Given the description of an element on the screen output the (x, y) to click on. 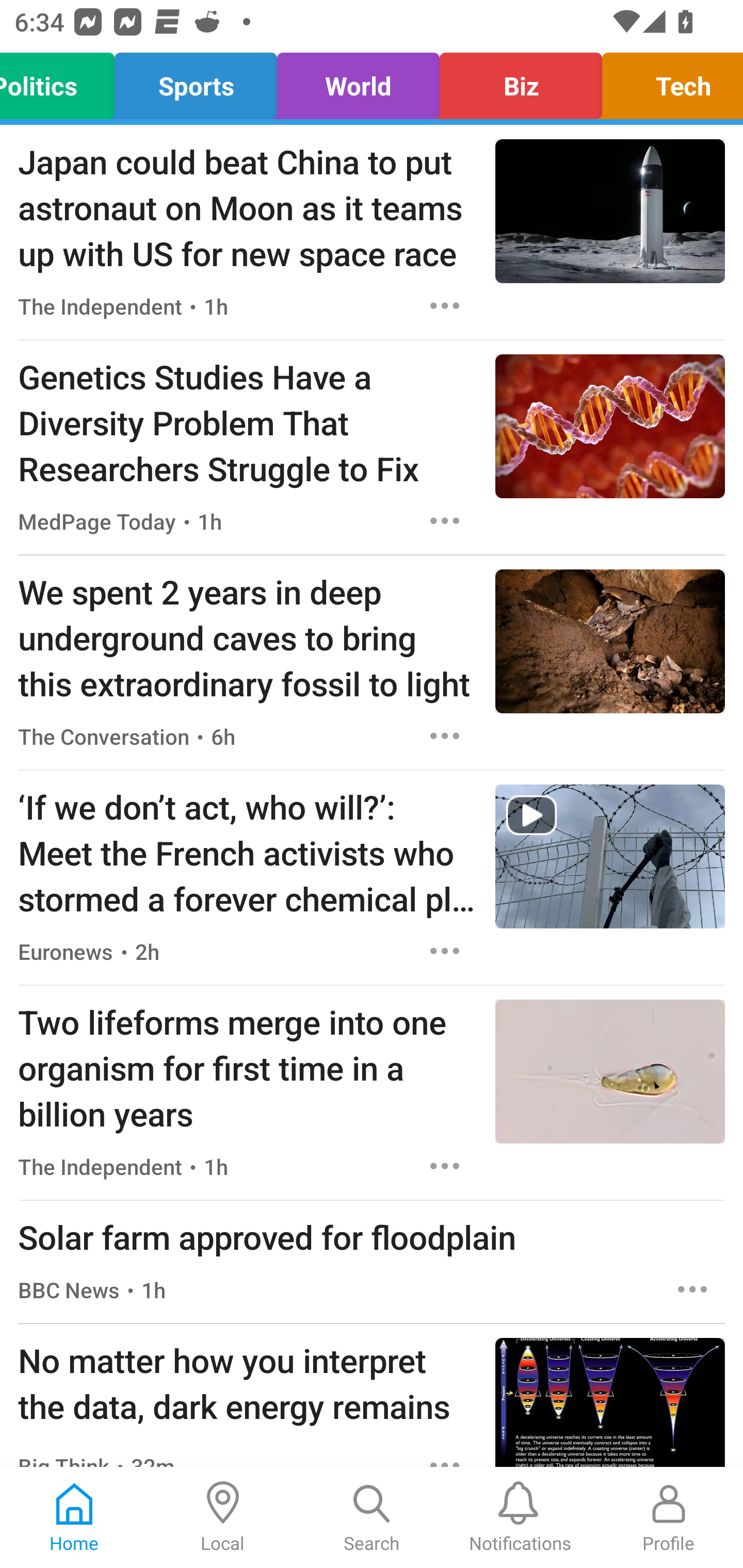
Politics (62, 81)
Sports (196, 81)
World (357, 81)
Biz (520, 81)
Tech (667, 81)
Options (444, 305)
Options (444, 520)
Options (444, 736)
Options (444, 950)
Options (444, 1166)
Options (692, 1289)
Local (222, 1517)
Search (371, 1517)
Notifications (519, 1517)
Profile (668, 1517)
